Given the description of an element on the screen output the (x, y) to click on. 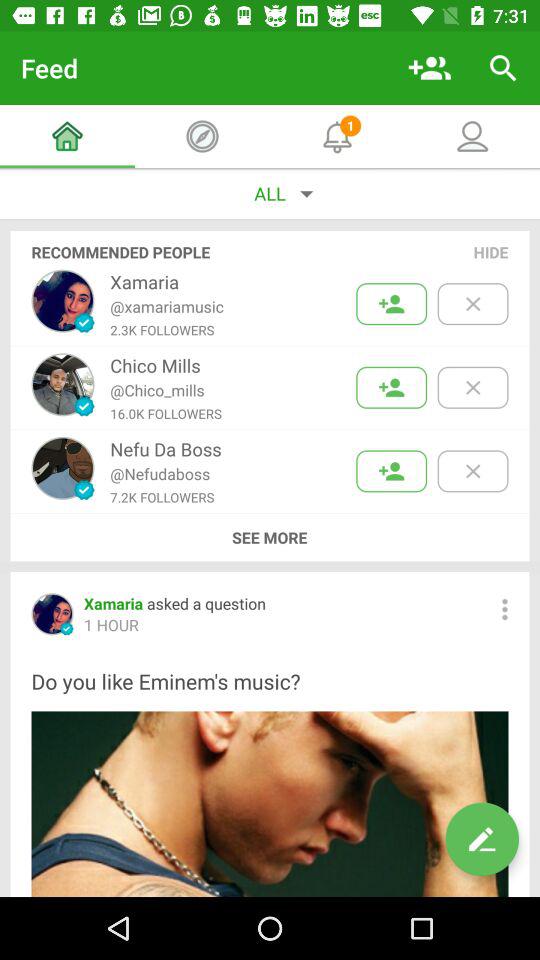
edit option (482, 839)
